Given the description of an element on the screen output the (x, y) to click on. 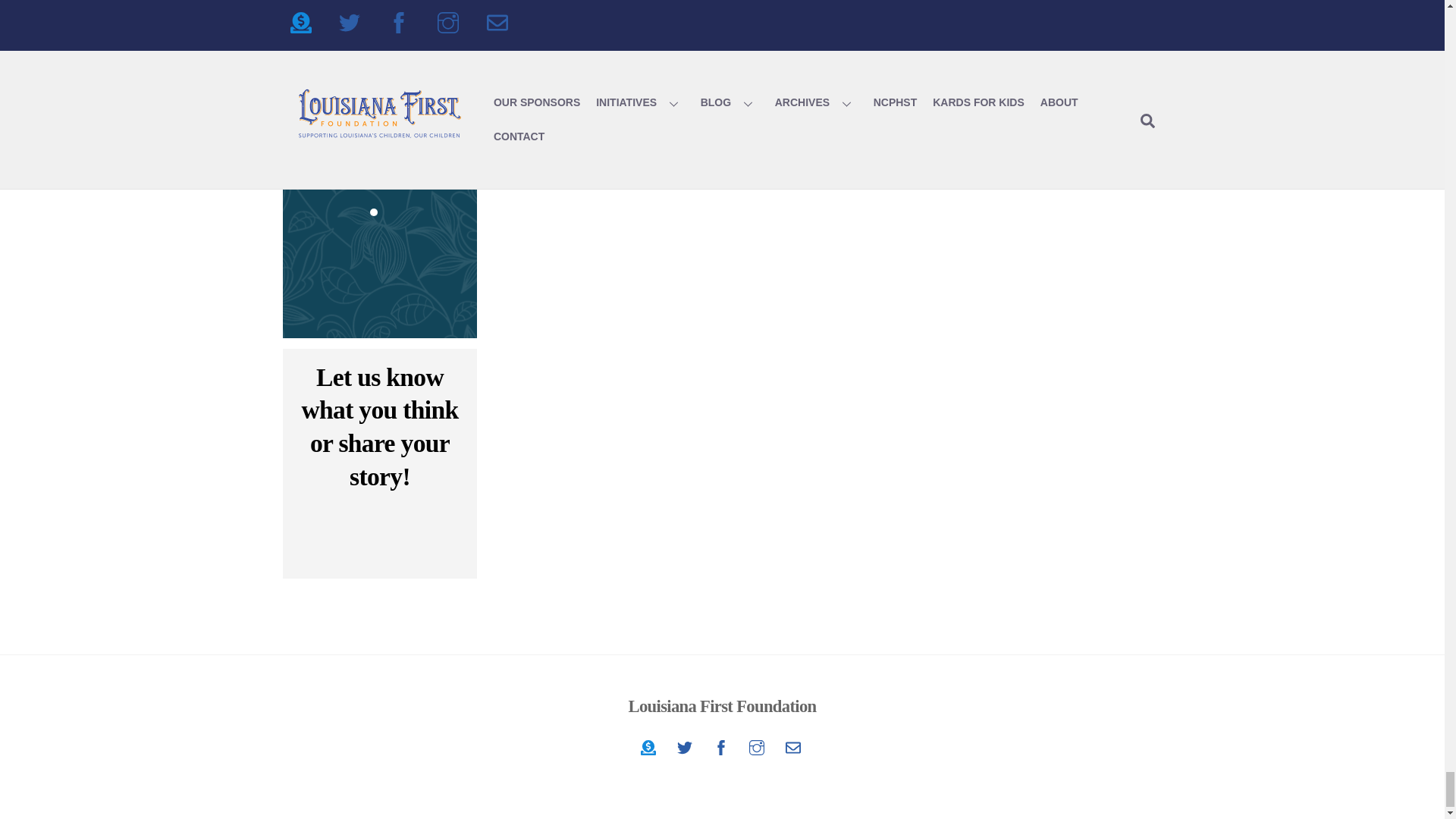
Louisiana First Foundation (721, 747)
